Given the description of an element on the screen output the (x, y) to click on. 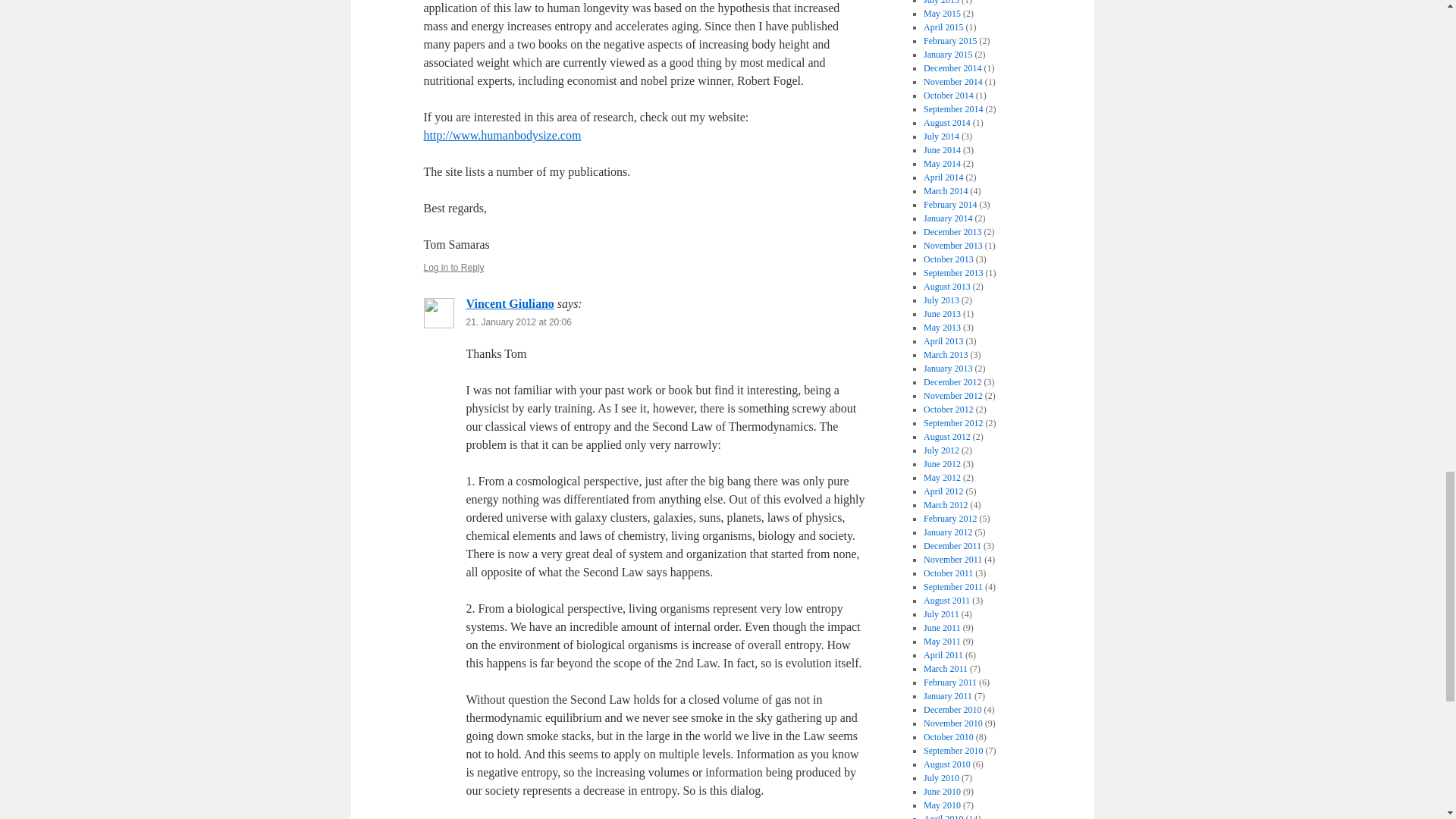
Log in to Reply (453, 267)
21. January 2012 at 20:06 (517, 321)
Vincent Giuliano (509, 303)
